Given the description of an element on the screen output the (x, y) to click on. 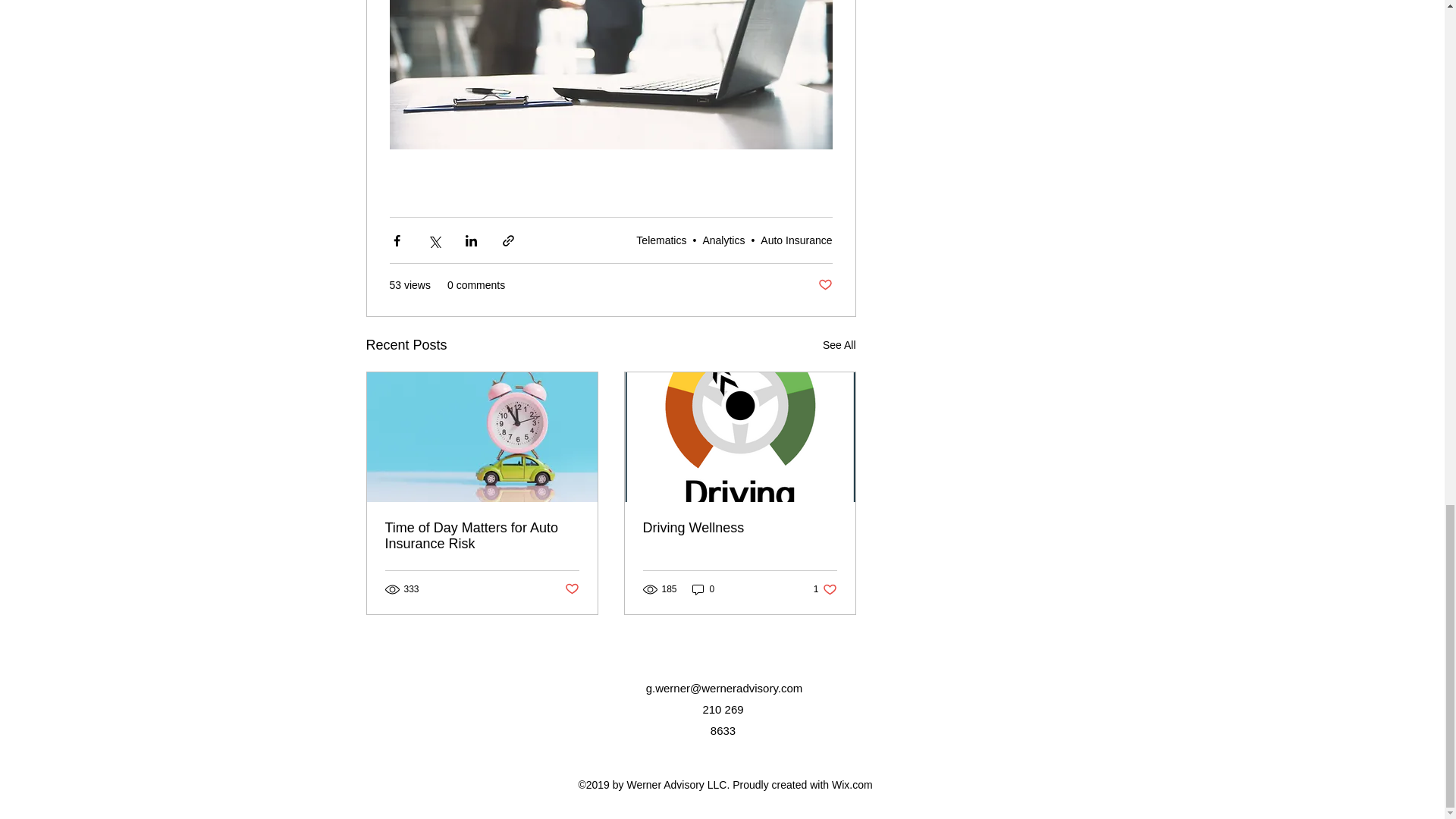
Post not marked as liked (825, 589)
Analytics (571, 589)
Time of Day Matters for Auto Insurance Risk (722, 240)
0 (482, 536)
Post not marked as liked (703, 589)
See All (823, 285)
Driving Wellness (839, 345)
Auto Insurance (740, 528)
Telematics (795, 240)
